Given the description of an element on the screen output the (x, y) to click on. 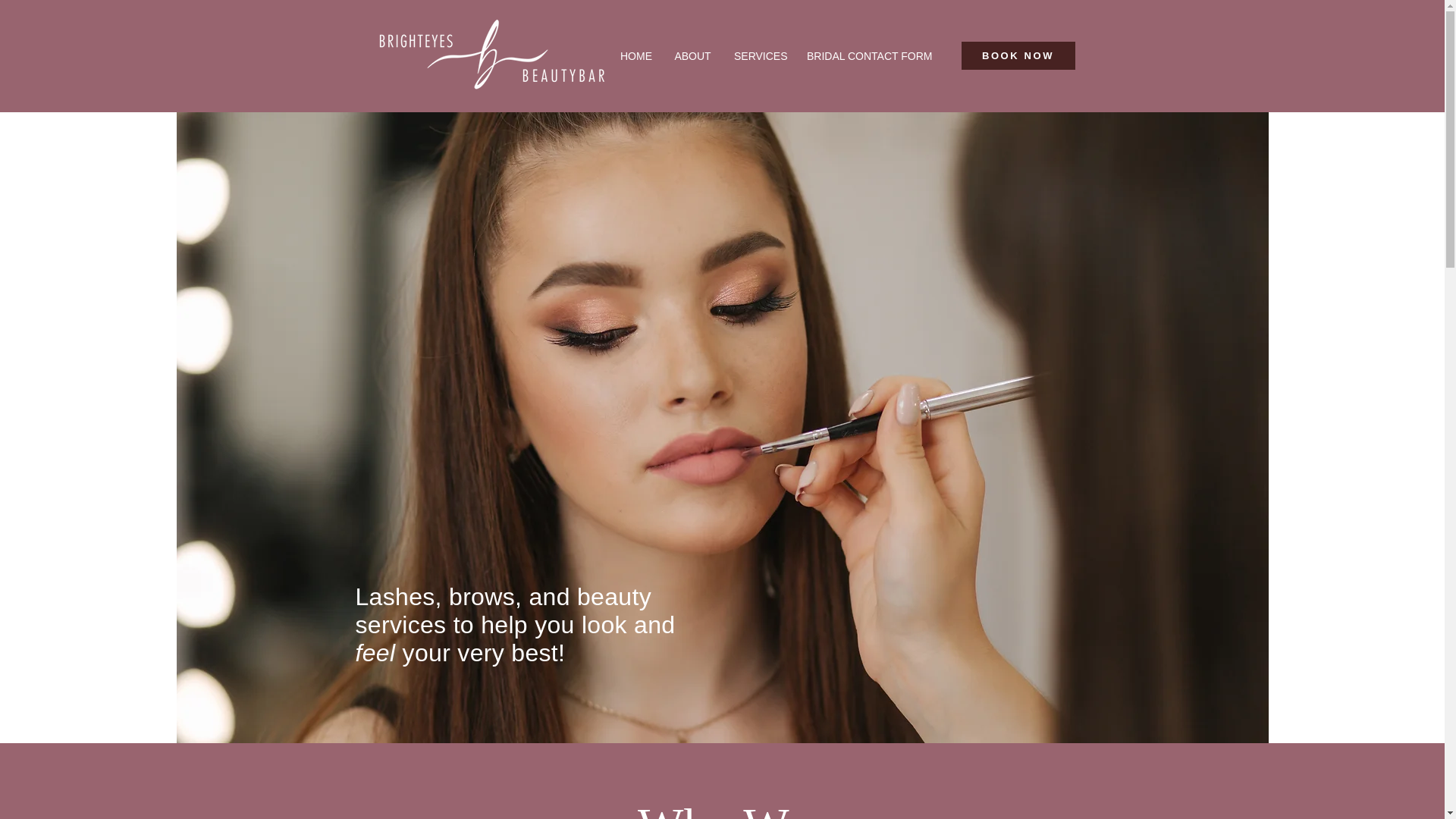
HOME (635, 55)
BOOK NOW (1017, 55)
ABOUT (692, 55)
SERVICES (758, 55)
BRIDAL CONTACT FORM (868, 55)
